Given the description of an element on the screen output the (x, y) to click on. 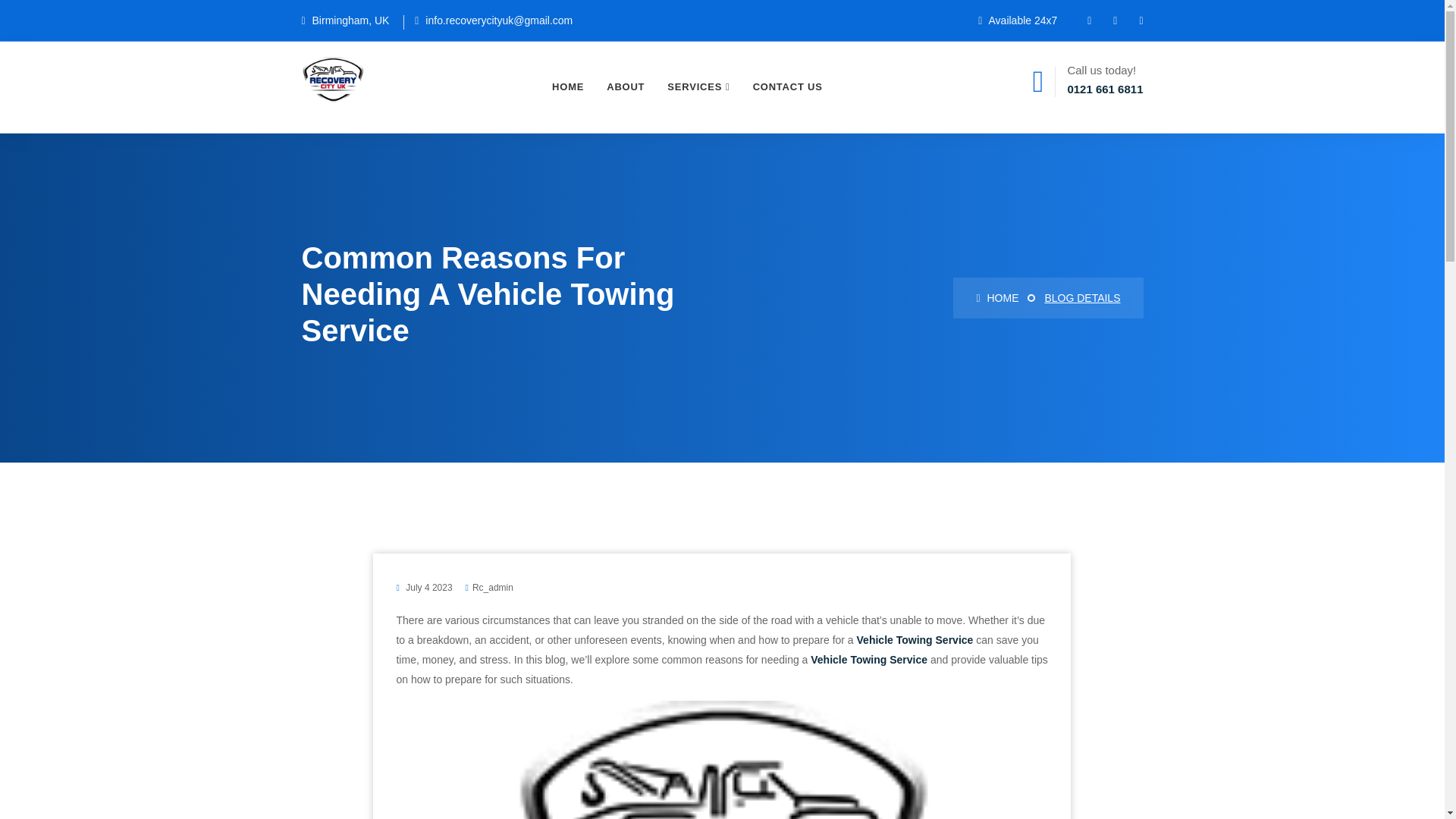
CONTACT US (787, 87)
Vehicle Towing Service (915, 639)
HOME (996, 297)
SERVICES (698, 87)
Services (698, 87)
Vehicle Towing Service (868, 659)
Contact Us (787, 87)
0121 661 6811 (1104, 88)
